Given the description of an element on the screen output the (x, y) to click on. 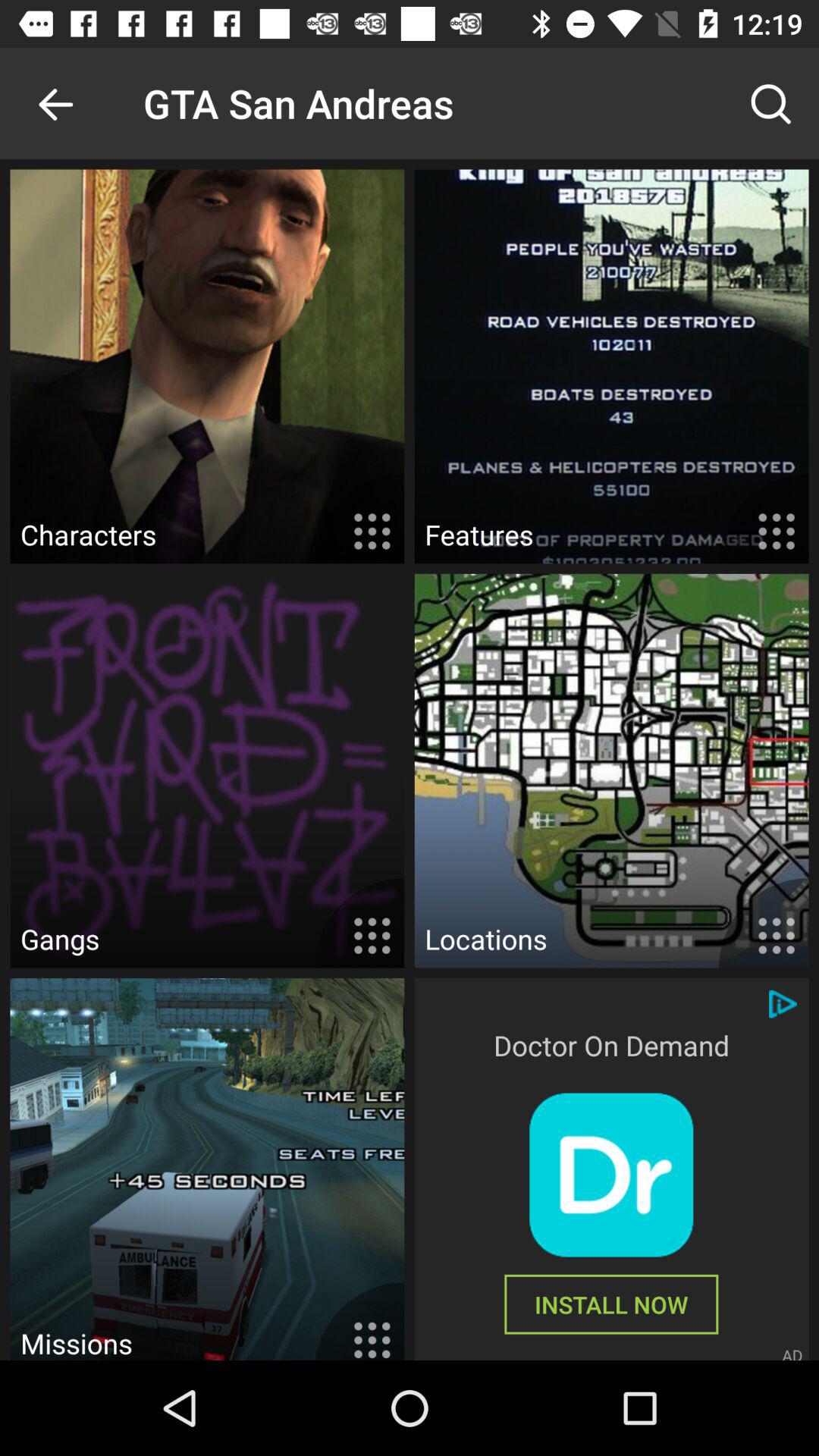
go to previous (55, 103)
